Given the description of an element on the screen output the (x, y) to click on. 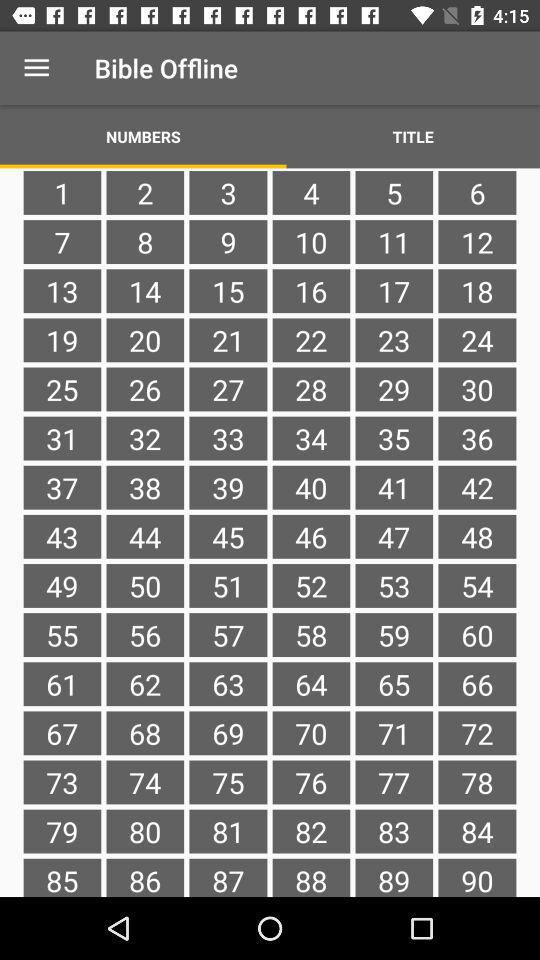
turn on item above the 49 (145, 536)
